Given the description of an element on the screen output the (x, y) to click on. 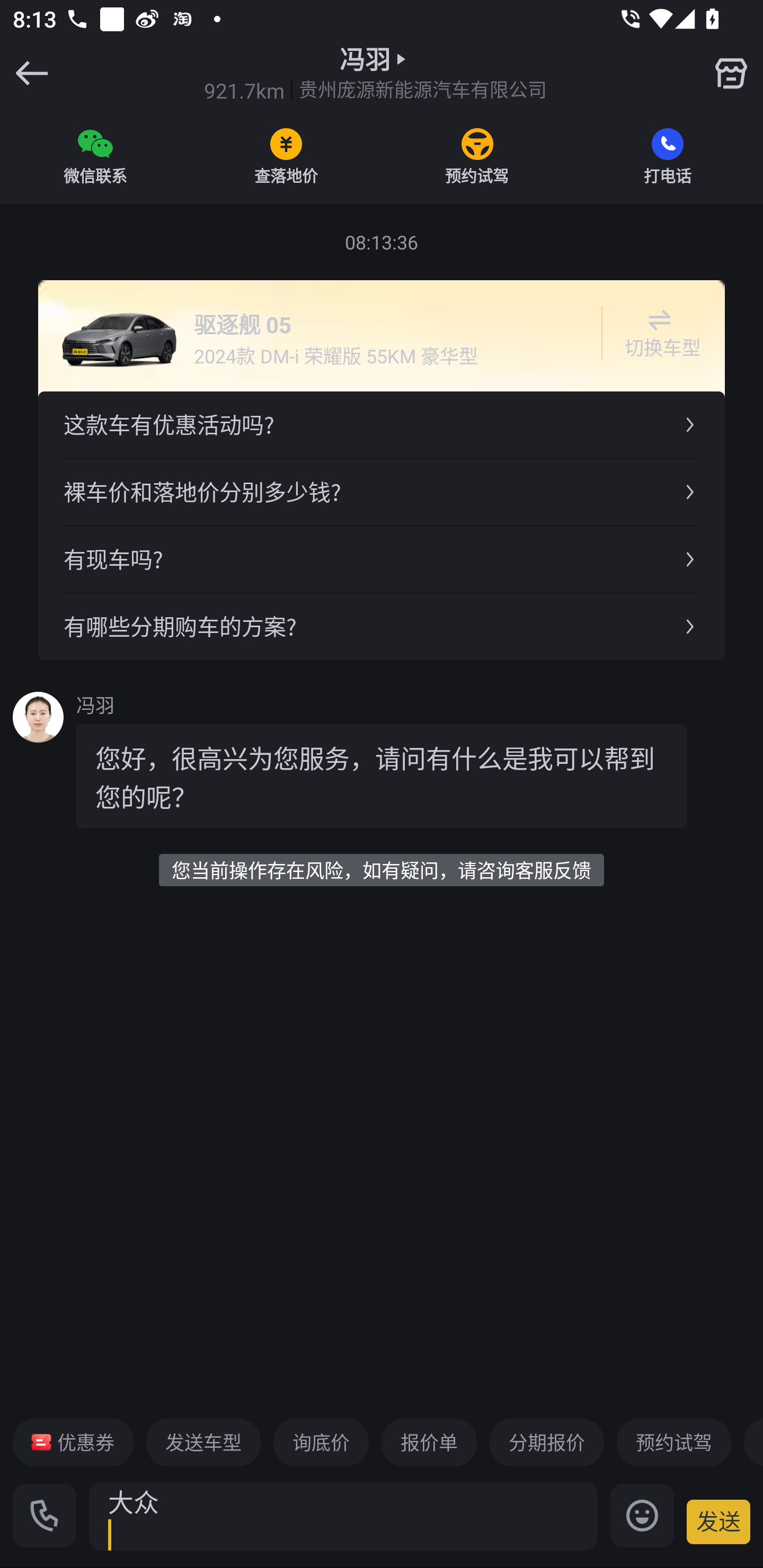
冯羽 921.7km 贵州庞源新能源汽车有限公司 (374, 73)
 (730, 73)
微信联系 (95, 155)
查落地价 (285, 155)
预约试驾 (476, 155)
打电话 (667, 155)
切换车型 (659, 332)
这款车有优惠活动吗? (381, 424)
裸车价和落地价分别多少钱? (381, 492)
有现车吗? (381, 558)
有哪些分期购车的方案? (381, 626)
您好，很高兴为您服务，请问有什么是我可以帮到您的呢？ (381, 775)
优惠券 (72, 1442)
发送车型 (203, 1442)
询底价 (320, 1442)
报价单 (428, 1442)
分期报价 (546, 1442)
预约试驾 (673, 1442)
大众
 (343, 1515)
发送 (718, 1521)
